Given the description of an element on the screen output the (x, y) to click on. 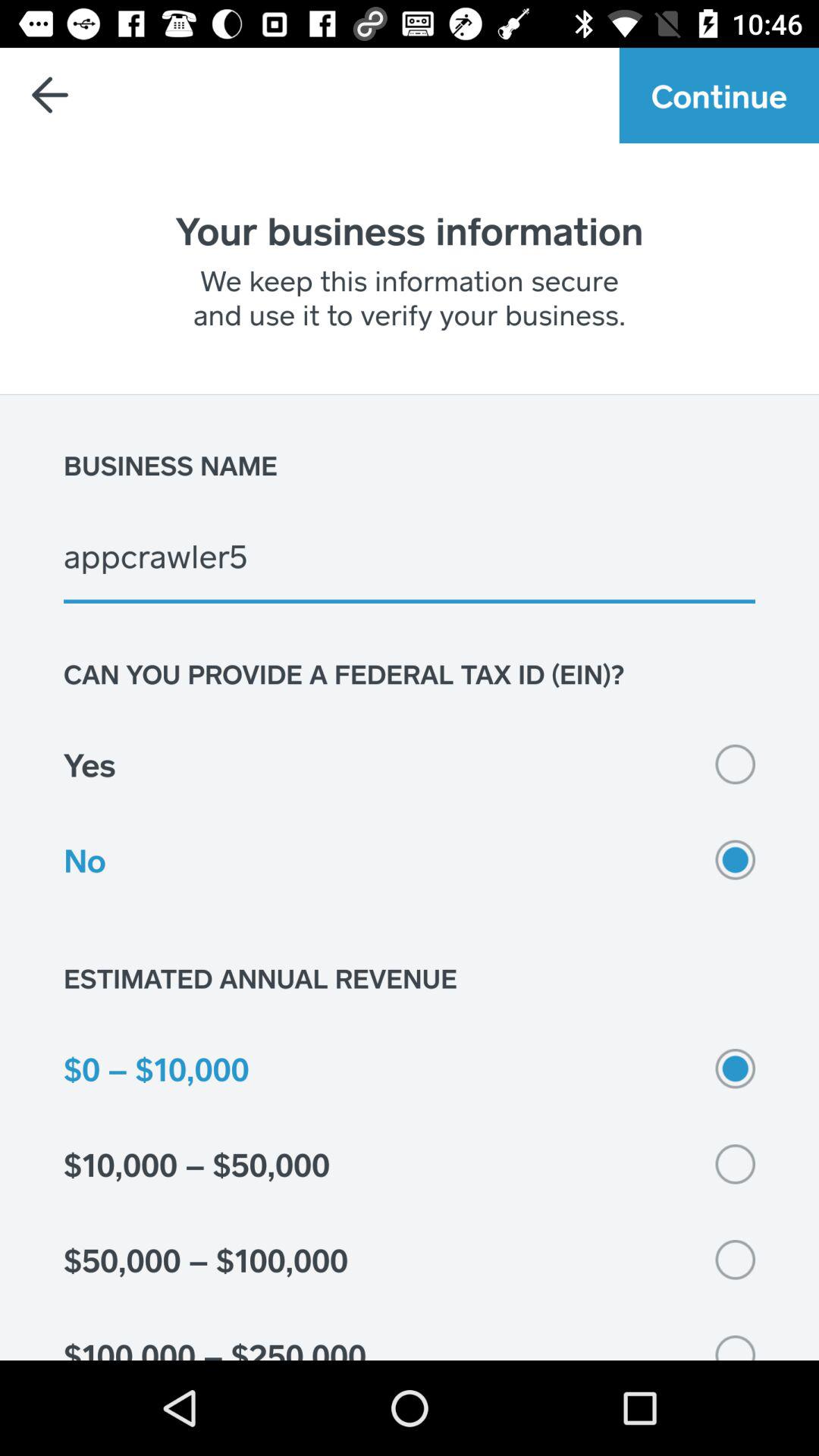
click no icon (409, 859)
